Given the description of an element on the screen output the (x, y) to click on. 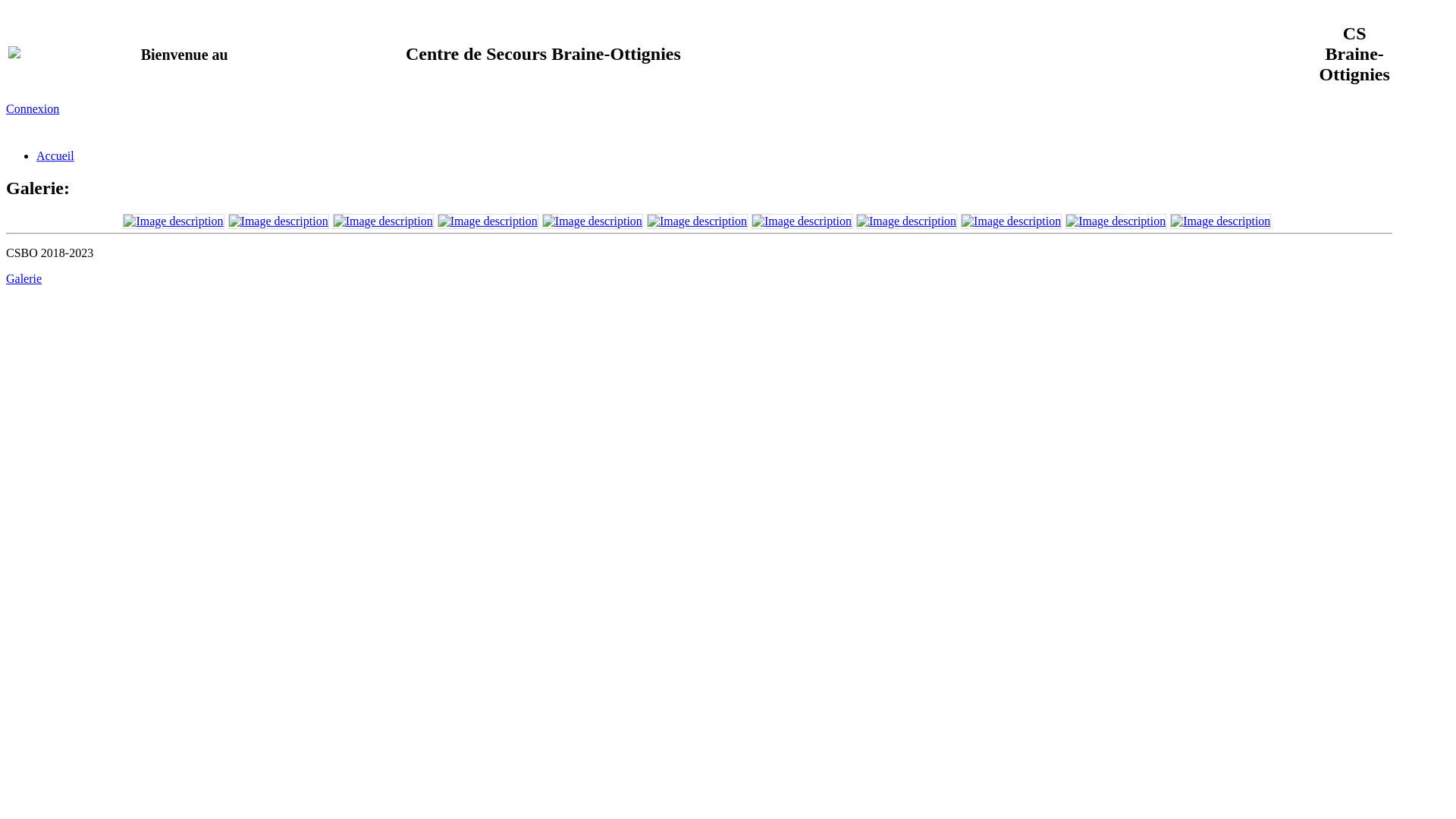
Connexion Element type: text (32, 108)
Galerie Element type: text (23, 278)
Accueil Element type: text (55, 155)
